Given the description of an element on the screen output the (x, y) to click on. 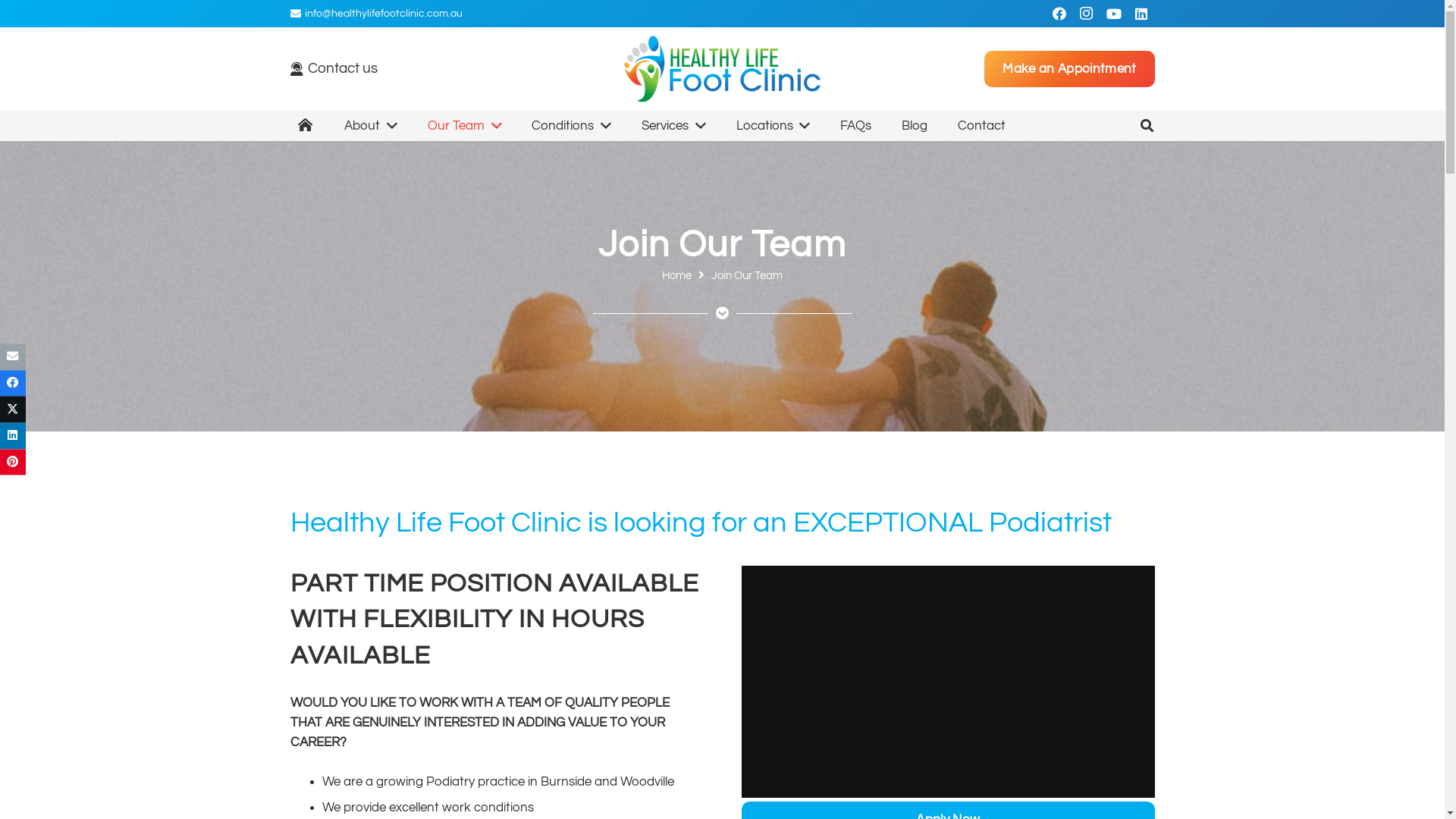
Share this Element type: hover (12, 435)
Pin this Element type: hover (12, 461)
Woodville Clinic Element type: text (824, 589)
Burnside Clinic Element type: text (823, 625)
Fullarton Clinic Element type: text (823, 661)
info@healthylifefootclinic.com.au Element type: text (375, 12)
Fullarton Element type: hover (765, 661)
(08) 8445 8680 Element type: text (821, 553)
3 locations Element type: text (504, 517)
HERE Element type: text (557, 576)
YouTube Element type: hover (1112, 13)
Conditions Element type: text (571, 125)
Make an Appointment Element type: text (492, 625)
YouTube Element type: hover (1098, 632)
Cookie Policy Element type: text (758, 800)
Youtube video player Element type: hover (947, 681)
Contact us Element type: text (332, 68)
Contact Element type: text (981, 125)
Blog Element type: text (914, 125)
Facebook Element type: hover (1058, 13)
Tweet this Element type: hover (12, 409)
Email this Element type: hover (12, 356)
Instagram Element type: hover (1029, 632)
Burnside Hours Element type: text (1066, 576)
Fullarton Element type: text (407, 556)
Locations Element type: text (773, 125)
FAQs Element type: text (855, 125)
Burnside Element type: text (539, 536)
Join Our Team Element type: text (746, 275)
LinkedIn Element type: hover (1140, 13)
Facebook Element type: hover (995, 632)
Share this Element type: hover (12, 383)
Make an Appointment Element type: text (1069, 68)
Burnside Element type: hover (765, 625)
Newcastle Creative Co. Element type: text (888, 777)
Services Element type: text (673, 125)
Send an Email Element type: text (821, 517)
About Element type: text (370, 125)
Home Element type: text (676, 275)
Our Team Element type: text (464, 125)
Instagram Element type: hover (1085, 13)
LinkedIn Element type: hover (1064, 632)
Woodville Element type: text (566, 517)
Privacy Policy Element type: text (686, 800)
Woodville Element type: hover (765, 589)
Woodville Hours Element type: text (1066, 530)
